Given the description of an element on the screen output the (x, y) to click on. 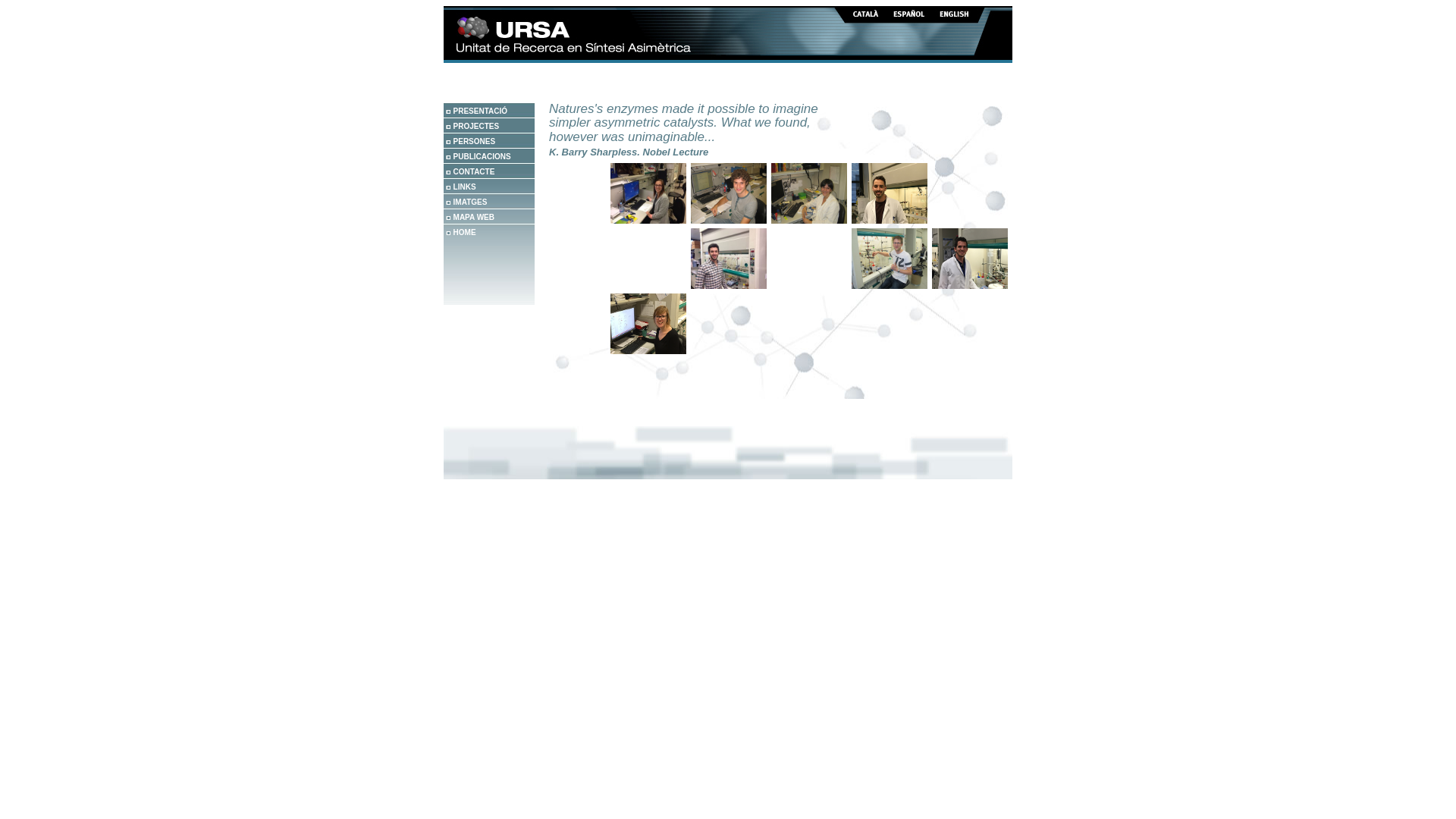
PUBLICACIONS Element type: text (482, 156)
MAPA WEB Element type: text (473, 217)
HOME Element type: text (464, 232)
PERSONES Element type: text (474, 141)
CONTACTE Element type: text (474, 171)
PROJECTES Element type: text (476, 126)
LINKS Element type: text (464, 186)
IMATGES Element type: text (470, 201)
